Given the description of an element on the screen output the (x, y) to click on. 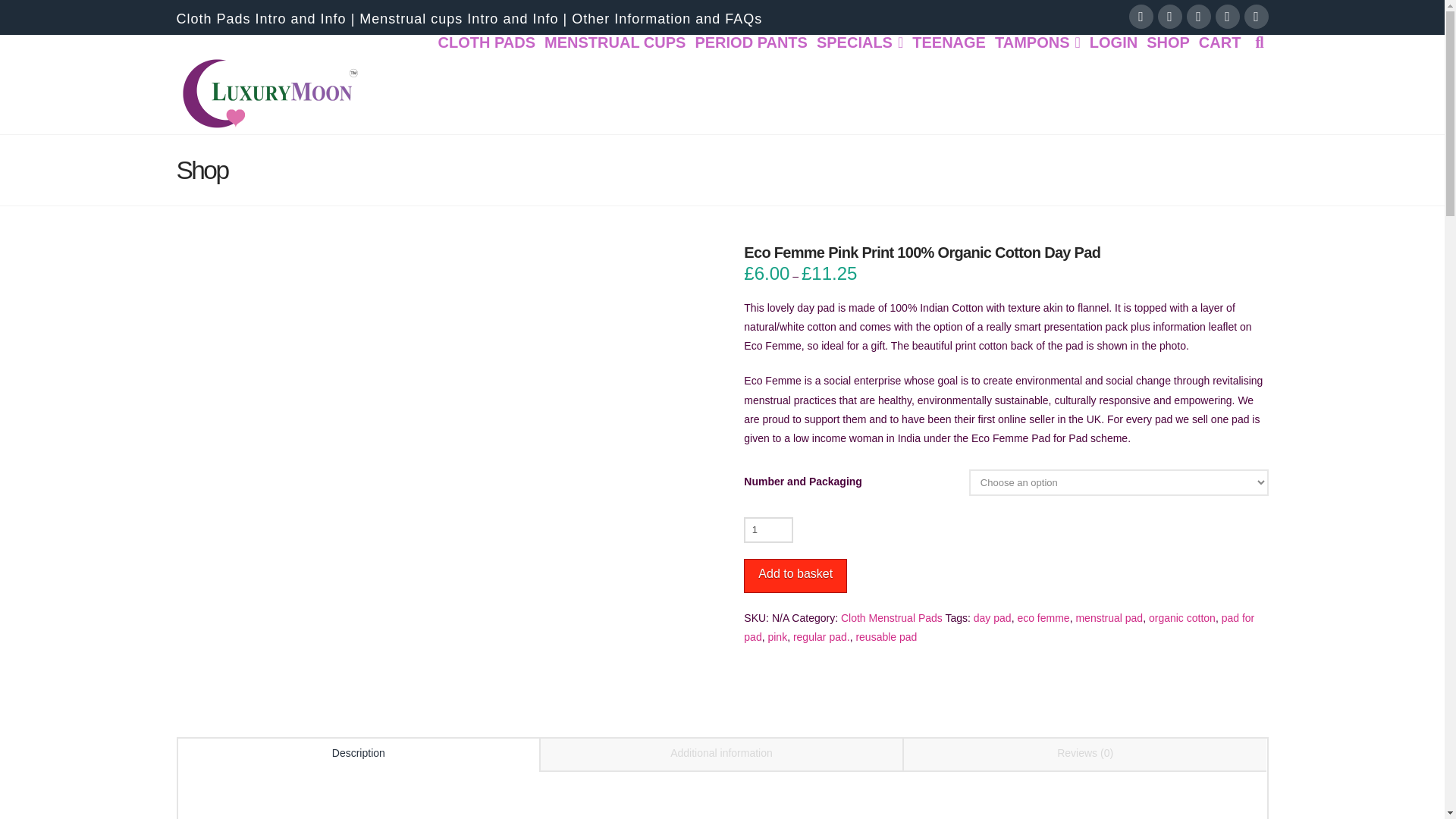
Facebook (1140, 16)
YouTube (1197, 16)
Menstrual cups Intro and Info (458, 18)
Instagram (1226, 16)
Other Information and FAQs (666, 18)
MENSTRUAL CUPS (615, 65)
PERIOD PANTS (751, 65)
TEENAGE (948, 65)
1 (768, 529)
Pinterest (1255, 16)
